Given the description of an element on the screen output the (x, y) to click on. 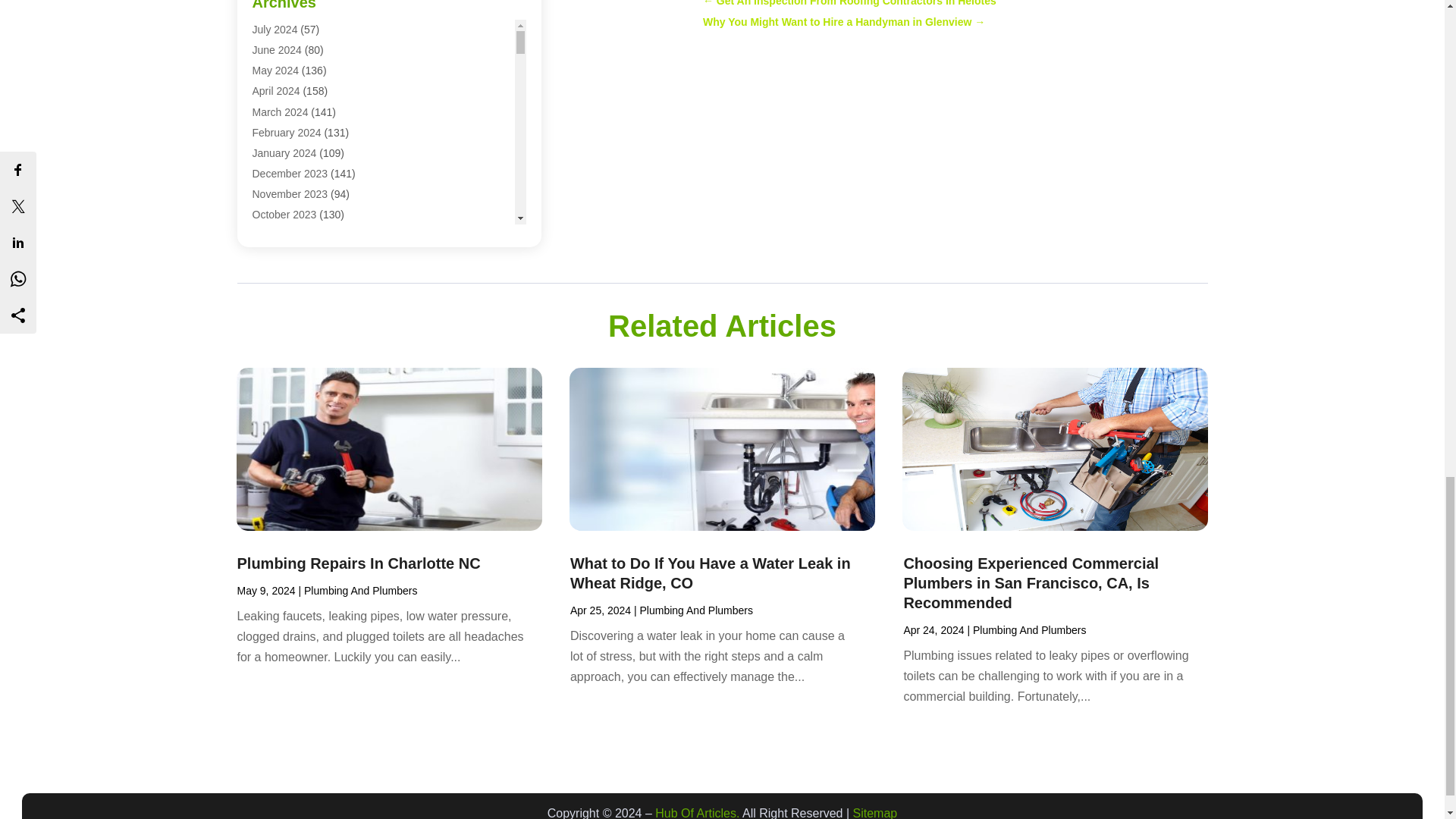
Agricultural Service (297, 12)
Air Conditioning Contractor (314, 136)
Agriculture And Forestry (308, 33)
Air Conditioning (288, 115)
Agronomy (275, 73)
Agriculture Cooperative (306, 53)
Air Compressor Supplier (309, 95)
